Given the description of an element on the screen output the (x, y) to click on. 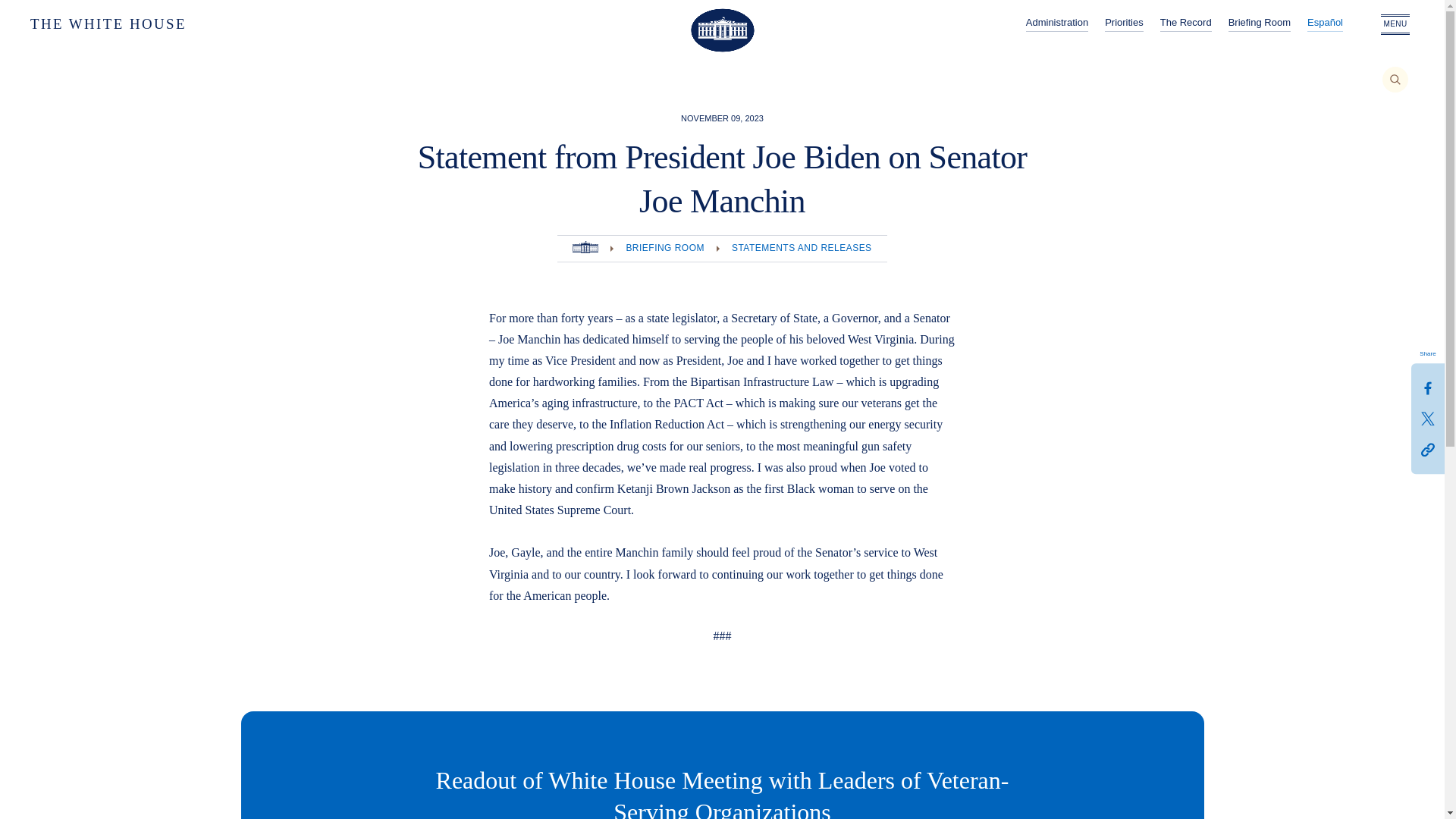
Home (585, 247)
Briefing Room (1259, 23)
Priorities (1123, 23)
The Record (1185, 23)
THE WHITE HOUSE (161, 24)
Administration (1056, 23)
